Given the description of an element on the screen output the (x, y) to click on. 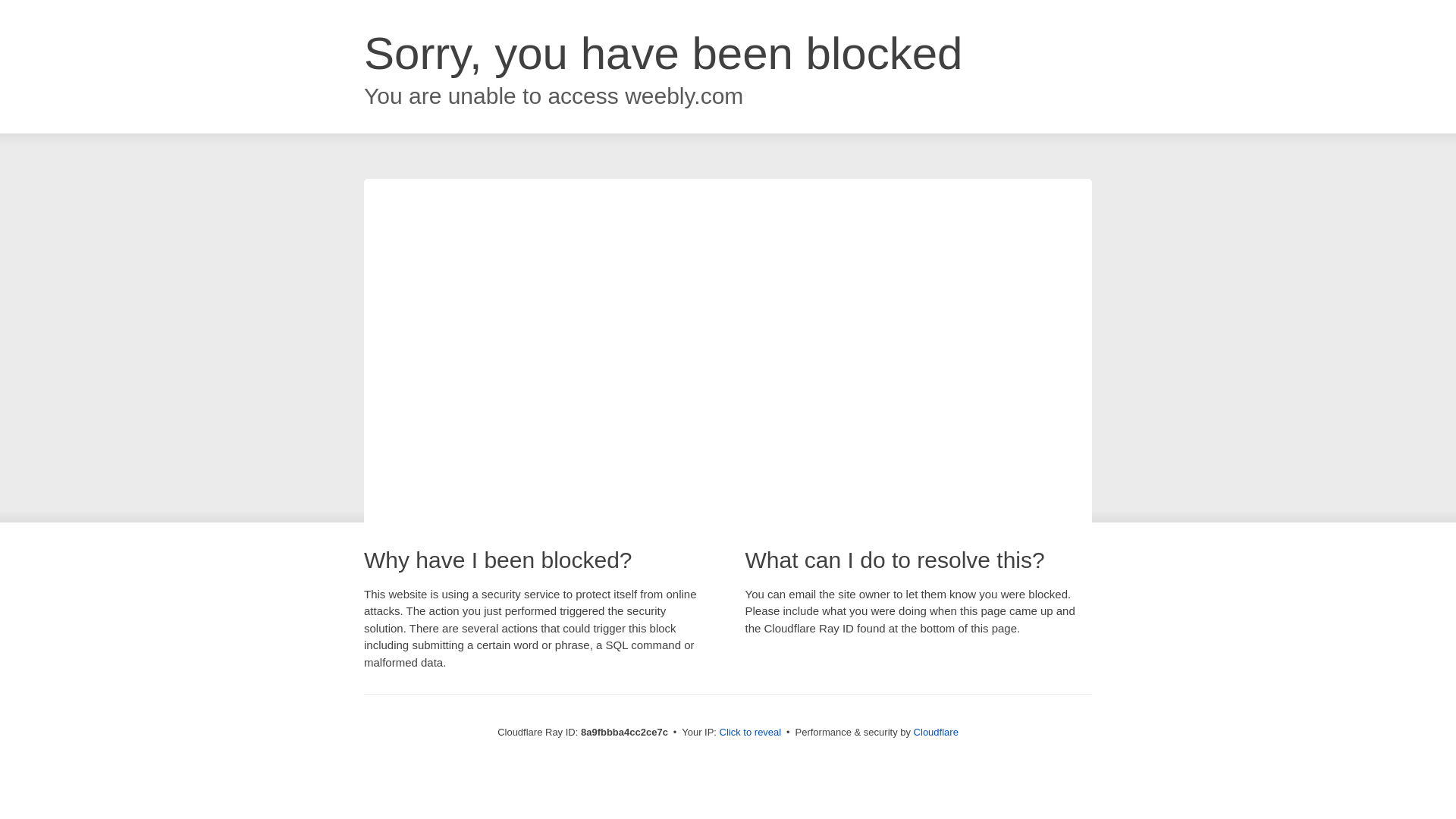
Cloudflare (936, 731)
Click to reveal (750, 732)
